Given the description of an element on the screen output the (x, y) to click on. 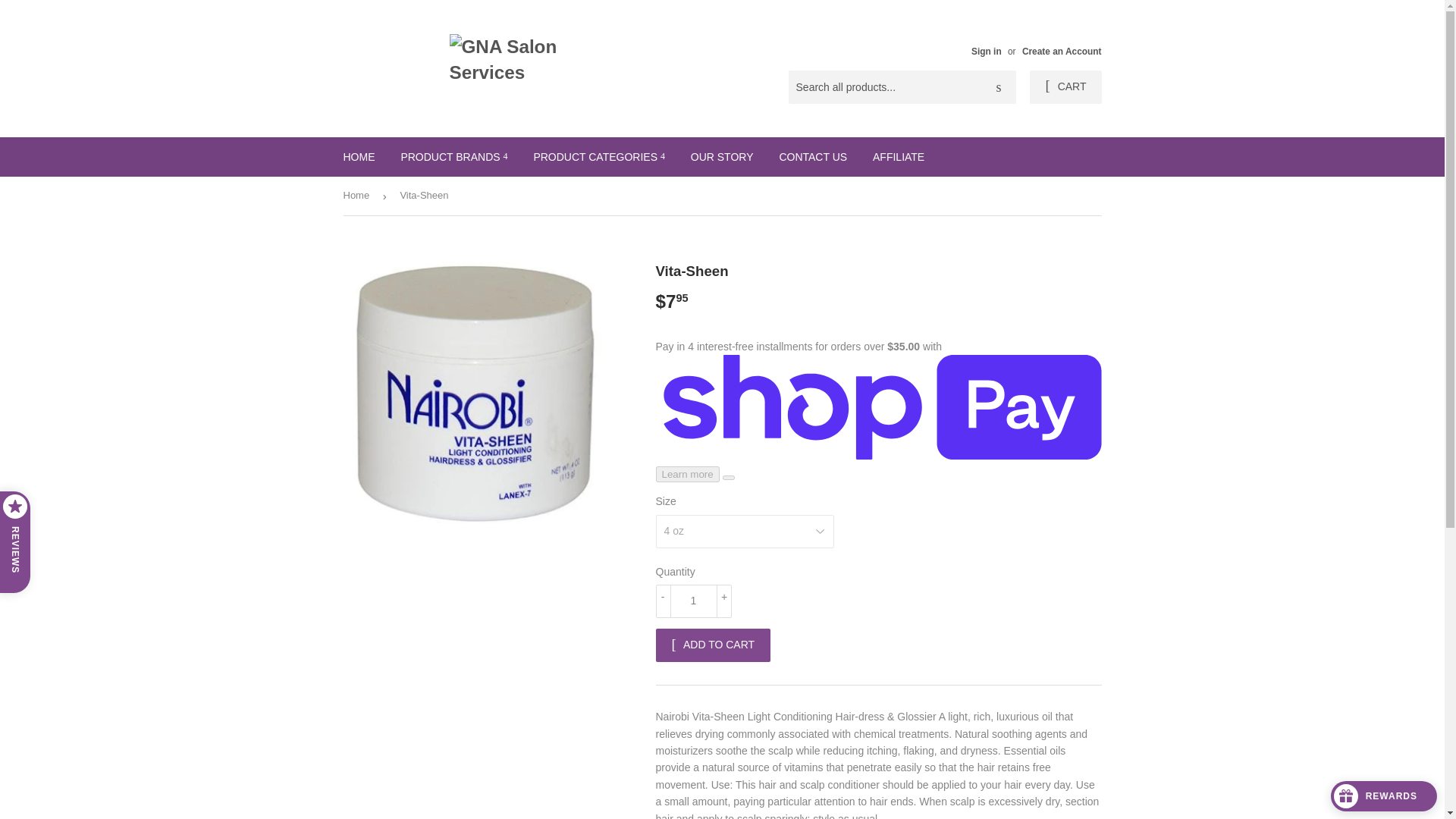
1 (692, 601)
PRODUCT BRANDS (453, 156)
Sign in (986, 50)
HOME (359, 156)
Create an Account (1062, 50)
CART (1064, 87)
Search (998, 88)
